Given the description of an element on the screen output the (x, y) to click on. 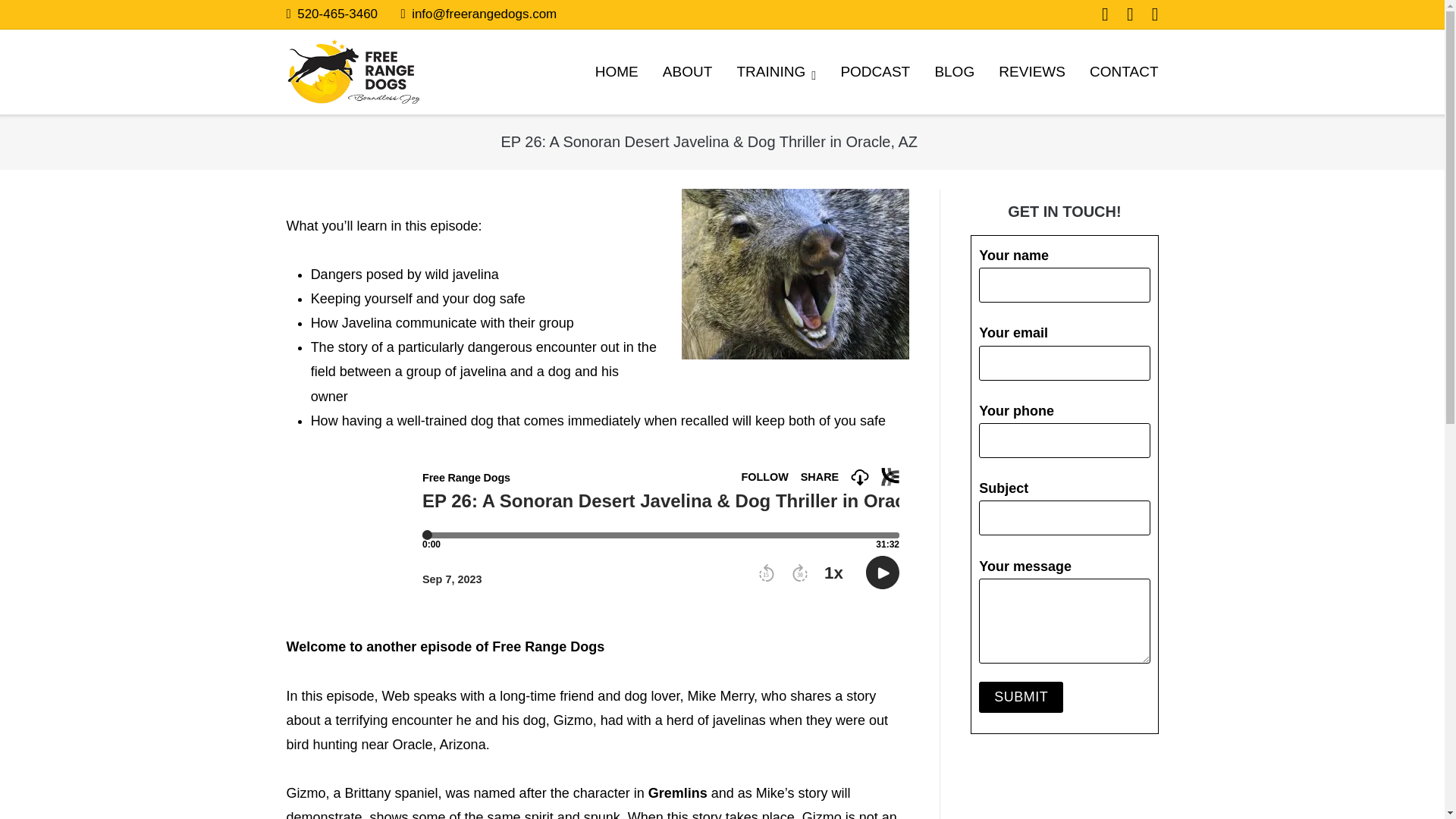
TRAINING (775, 71)
520-465-3460 (331, 14)
Embed Player (596, 529)
Submit (1020, 696)
